Given the description of an element on the screen output the (x, y) to click on. 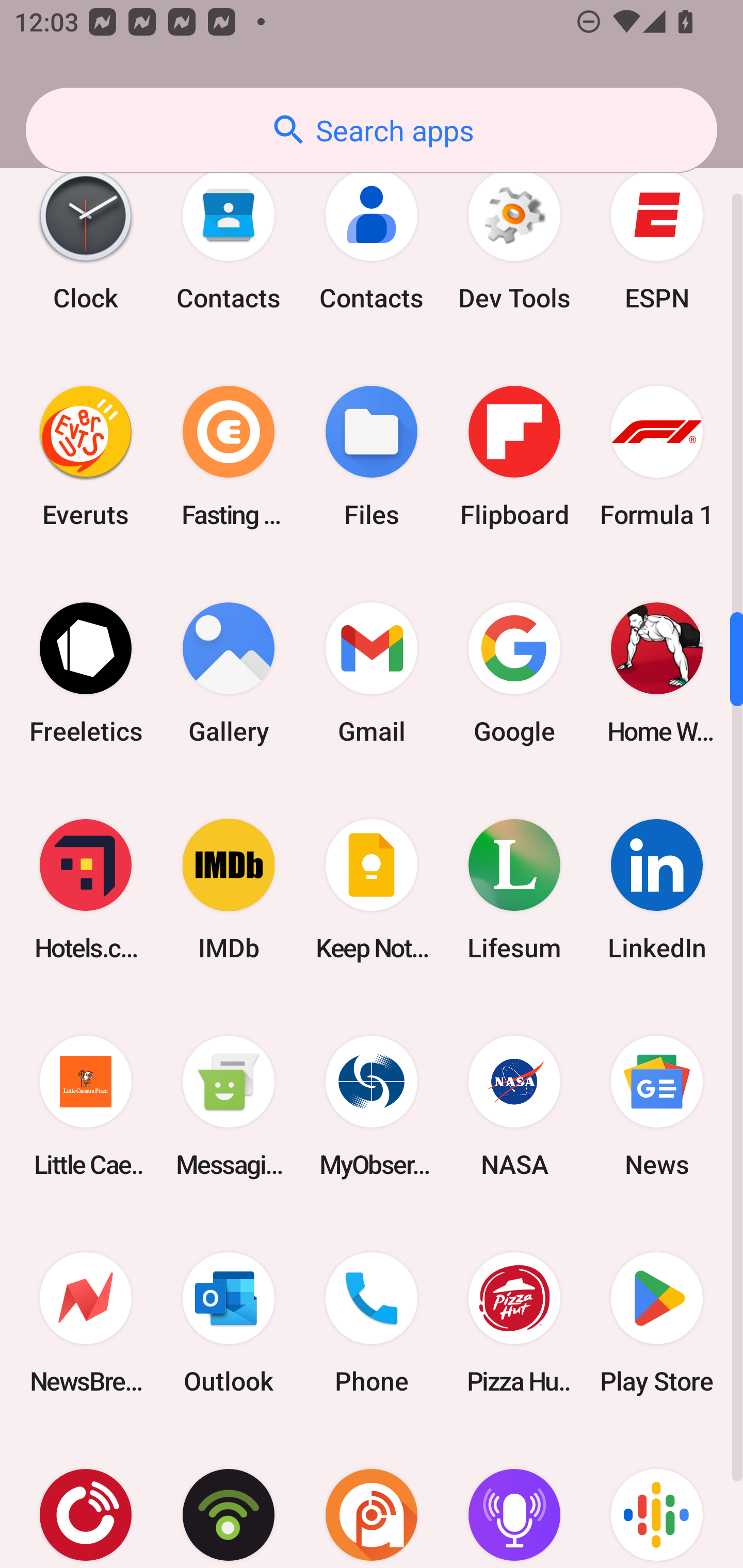
  Search apps (371, 130)
Clock (85, 239)
Contacts (228, 239)
Contacts (371, 239)
Dev Tools (514, 239)
ESPN (656, 239)
Everuts (85, 456)
Fasting Coach (228, 456)
Files (371, 456)
Flipboard (514, 456)
Formula 1 (656, 456)
Freeletics (85, 672)
Gallery (228, 672)
Gmail (371, 672)
Google (514, 672)
Home Workout (656, 672)
Hotels.com (85, 889)
IMDb (228, 889)
Keep Notes (371, 889)
Lifesum (514, 889)
LinkedIn (656, 889)
Little Caesars Pizza (85, 1106)
Messaging (228, 1106)
MyObservatory (371, 1106)
NASA (514, 1106)
News (656, 1106)
NewsBreak (85, 1323)
Outlook (228, 1323)
Phone (371, 1323)
Pizza Hut HK & Macau (514, 1323)
Play Store (656, 1323)
Player FM (85, 1499)
Podbean (228, 1499)
Podcast Addict (371, 1499)
Podcast Player (514, 1499)
Podcasts (656, 1499)
